Given the description of an element on the screen output the (x, y) to click on. 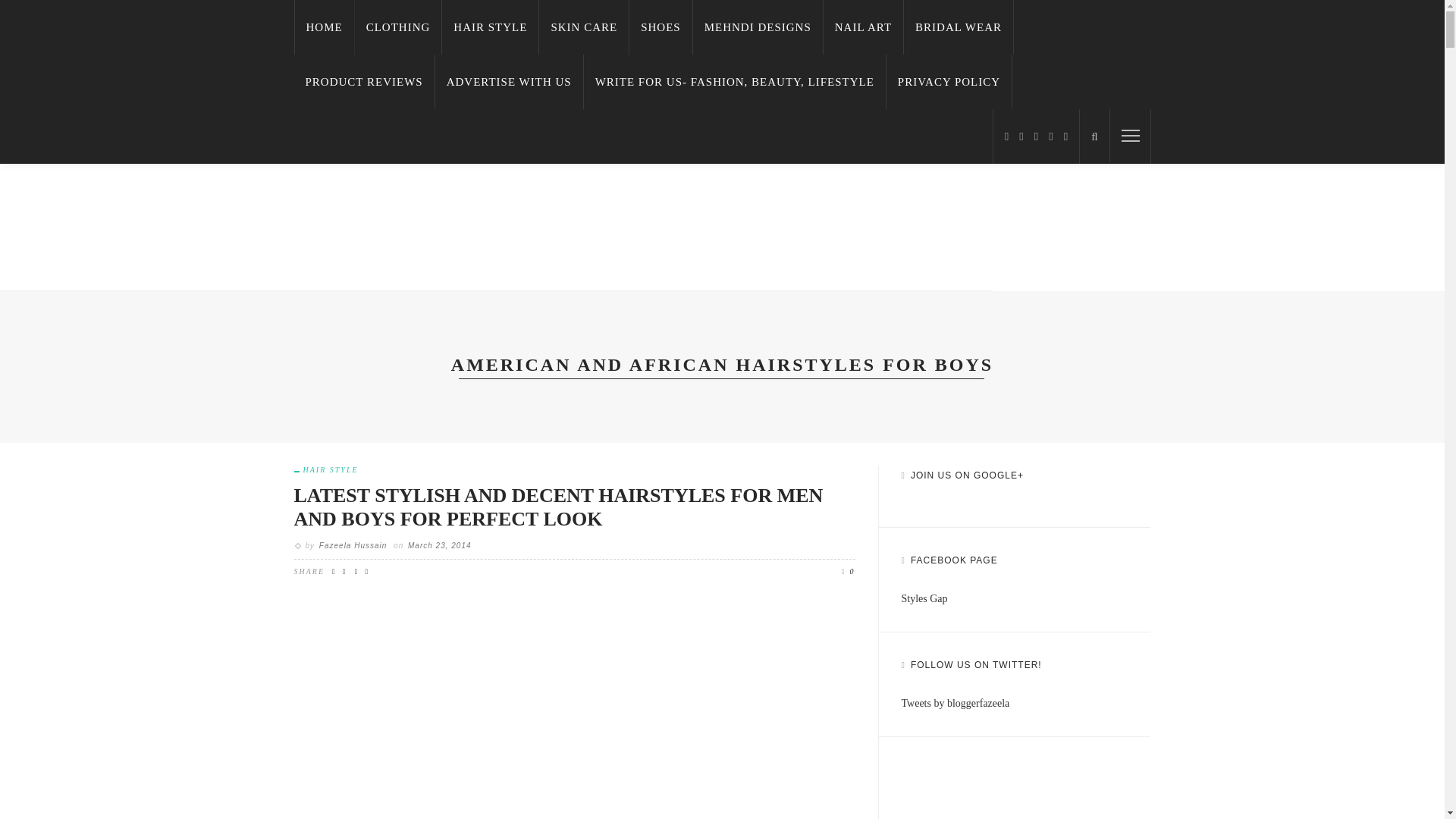
HOME (324, 27)
MEHNDI DESIGNS (758, 27)
Hair Style (326, 470)
HAIR STYLE (490, 27)
ADVERTISE WITH US (509, 81)
SHOES (660, 27)
CLOTHING (398, 27)
SKIN CARE (583, 27)
PRODUCT REVIEWS (364, 81)
NAIL ART (864, 27)
PRIVACY POLICY (948, 81)
WRITE FOR US- FASHION, BEAUTY, LIFESTYLE (734, 81)
BRIDAL WEAR (958, 27)
